Given the description of an element on the screen output the (x, y) to click on. 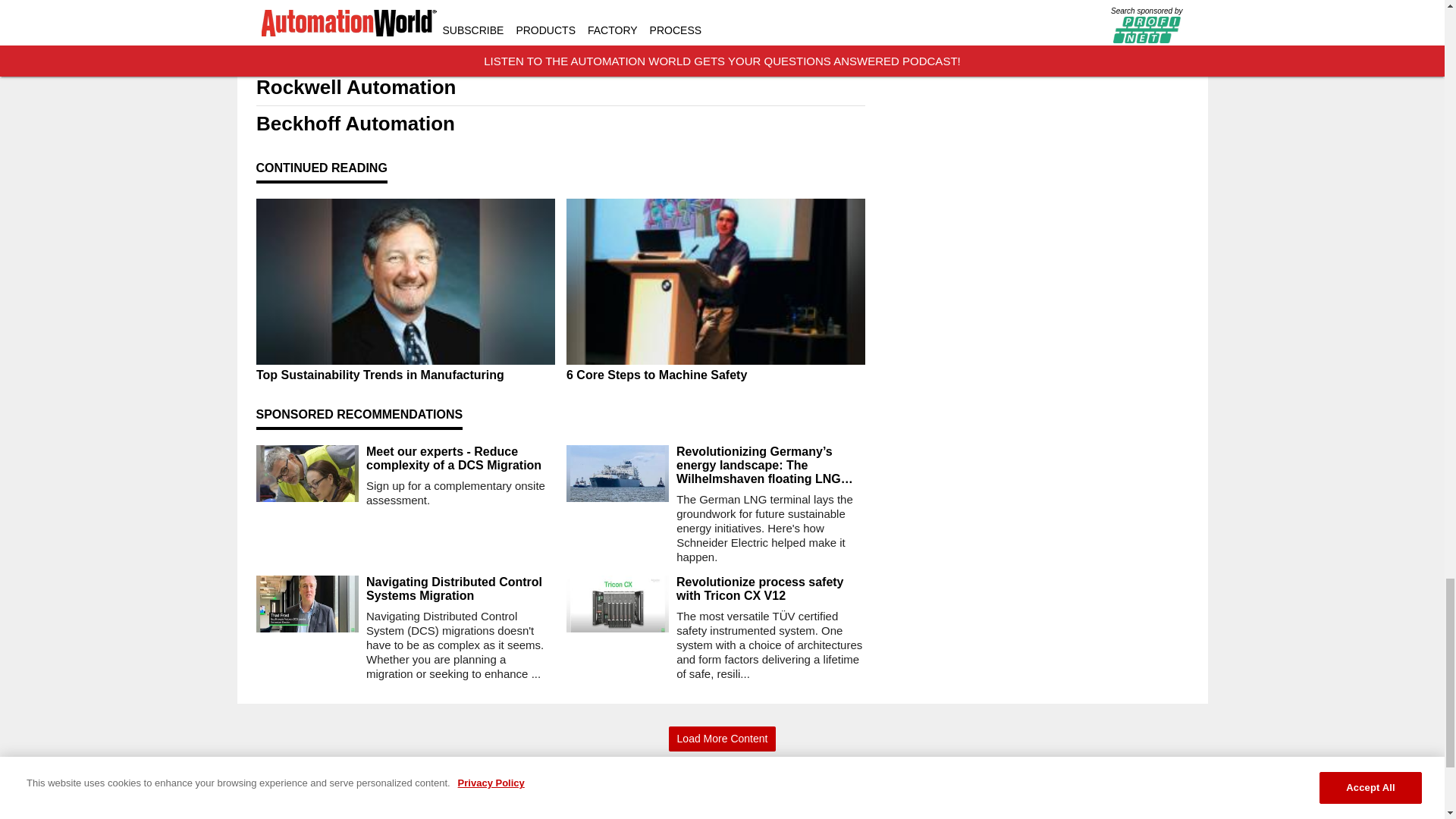
Meet our experts - Reduce complexity of a DCS Migration (459, 458)
Siemens Industry (560, 14)
Revolutionize process safety with Tricon CX V12 (770, 588)
GE Digital (560, 51)
Navigating Distributed Control Systems Migration (459, 588)
6 Core Steps to Machine Safety (715, 375)
Top Sustainability Trends in Manufacturing (405, 375)
Beckhoff Automation (560, 123)
Rockwell Automation (560, 87)
